Given the description of an element on the screen output the (x, y) to click on. 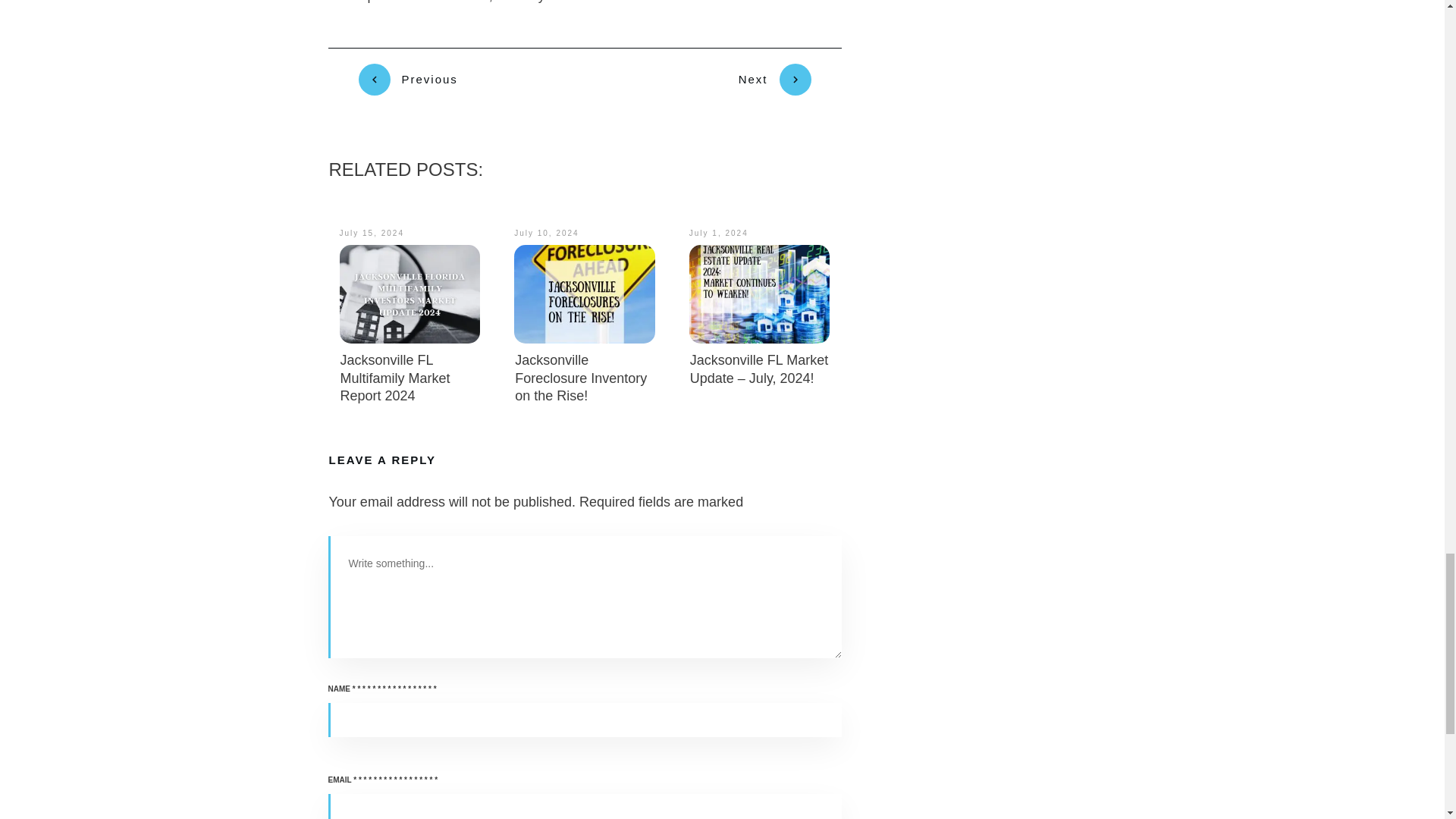
Jacksonville Foreclosure Inventory on the Rise! (580, 377)
Minna Reid (582, 1)
Jacksonville Foreclosure Inventory on the Rise! (580, 377)
Jacksonville FL Multifamily Market Report 2024 (394, 377)
Previous (407, 79)
Jacksonville FL Multifamily Market Report 2024 (394, 377)
Next (774, 79)
